Given the description of an element on the screen output the (x, y) to click on. 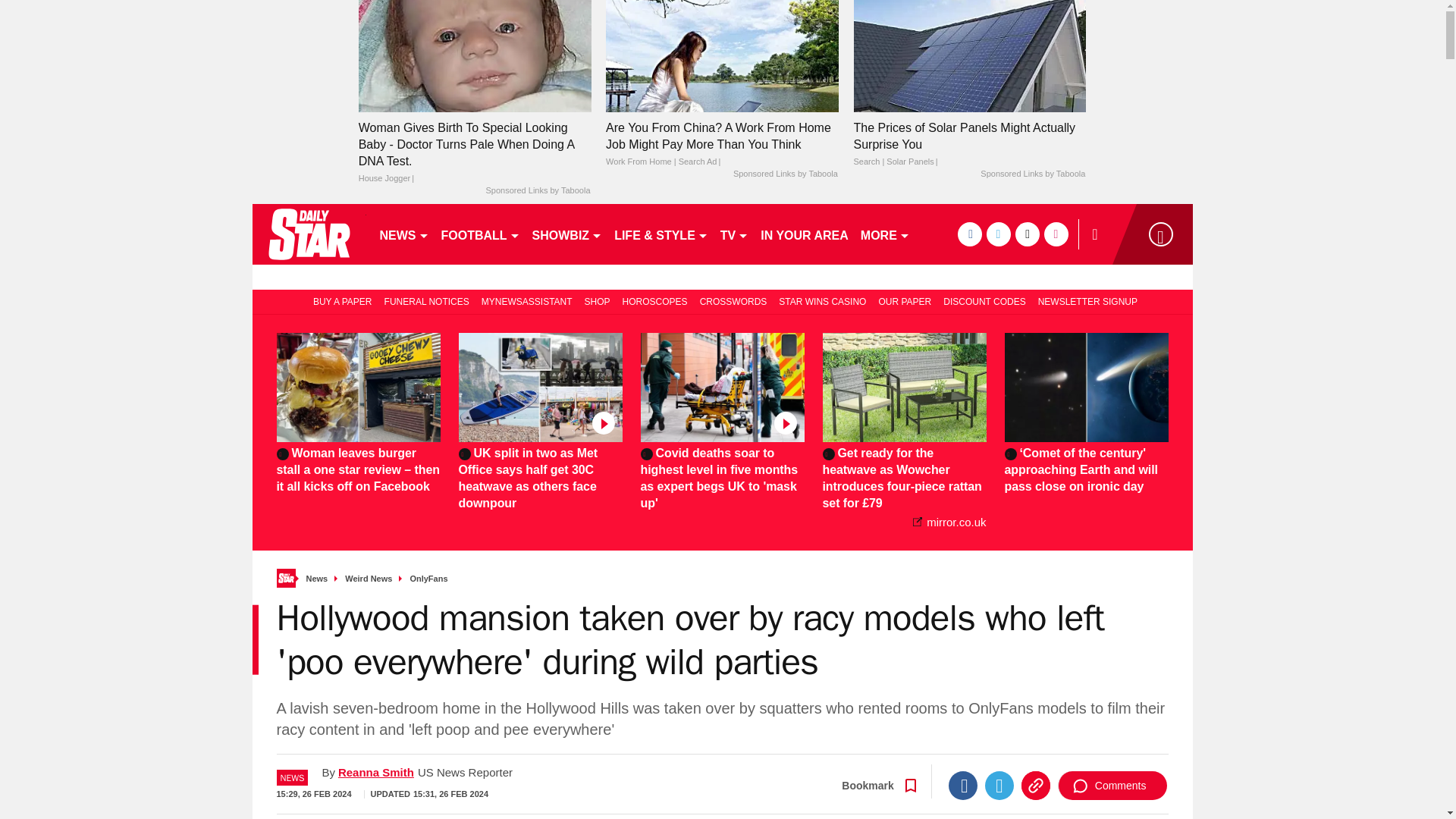
FOOTBALL (480, 233)
The Prices of Solar Panels Might Actually Surprise You (969, 55)
twitter (997, 233)
Sponsored Links by Taboola (536, 190)
Sponsored Links by Taboola (785, 174)
Sponsored Links by Taboola (1031, 174)
Facebook (962, 785)
tiktok (1026, 233)
facebook (968, 233)
SHOWBIZ (566, 233)
instagram (1055, 233)
